Given the description of an element on the screen output the (x, y) to click on. 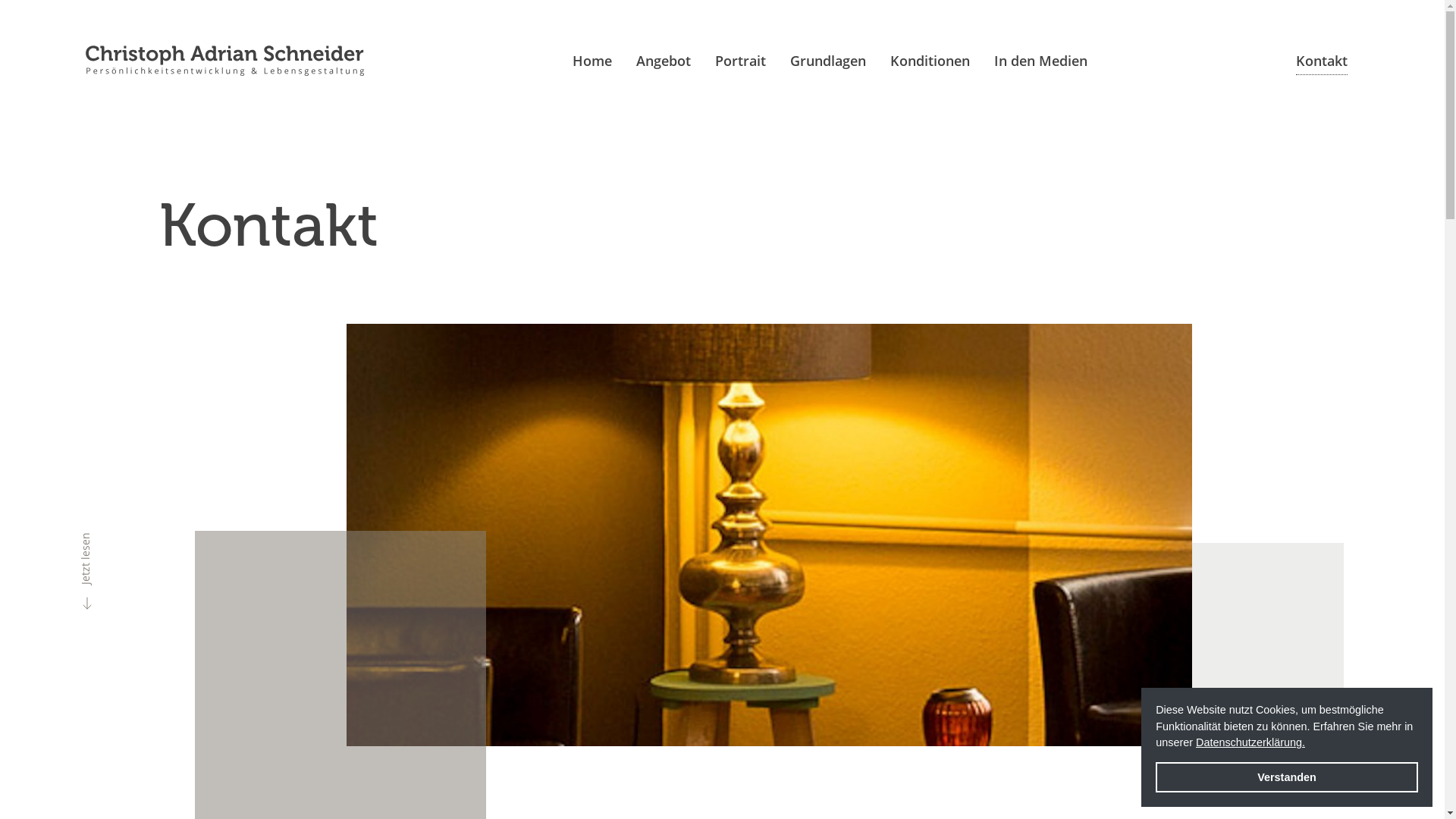
Grundlagen Element type: text (828, 60)
Kontakt Element type: text (1320, 60)
Verstanden Element type: text (1286, 777)
Konditionen Element type: text (930, 60)
Home Element type: text (592, 60)
In den Medien Element type: text (1040, 60)
Angebot Element type: text (663, 60)
Portrait Element type: text (740, 60)
